Given the description of an element on the screen output the (x, y) to click on. 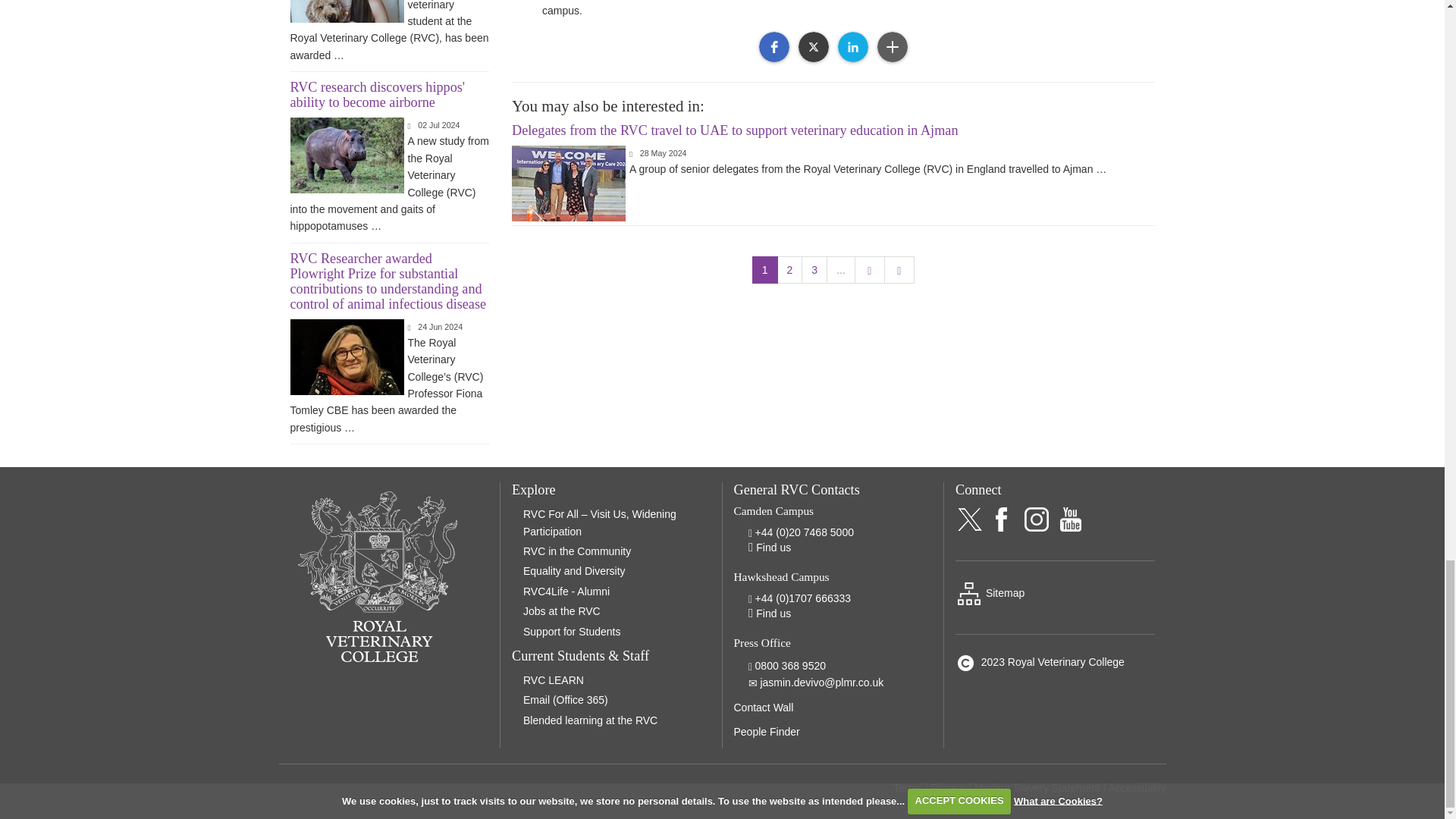
... (841, 269)
3 (814, 269)
2 (790, 269)
1 (764, 269)
Twitter (812, 46)
More (892, 46)
Facebook (773, 46)
LinkedIn (852, 46)
